Given the description of an element on the screen output the (x, y) to click on. 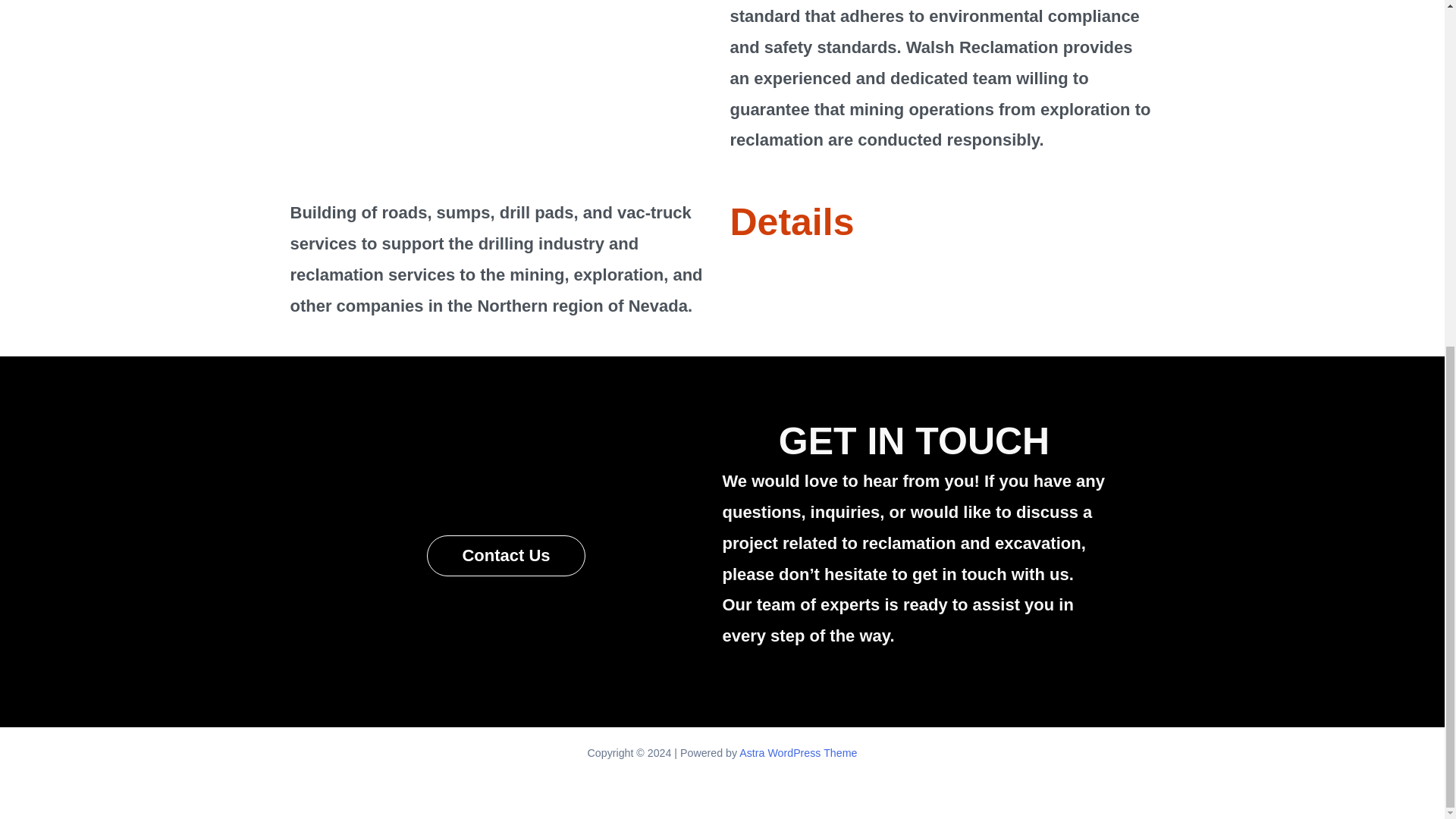
Astra WordPress Theme (798, 752)
Contact Us (505, 555)
